Given the description of an element on the screen output the (x, y) to click on. 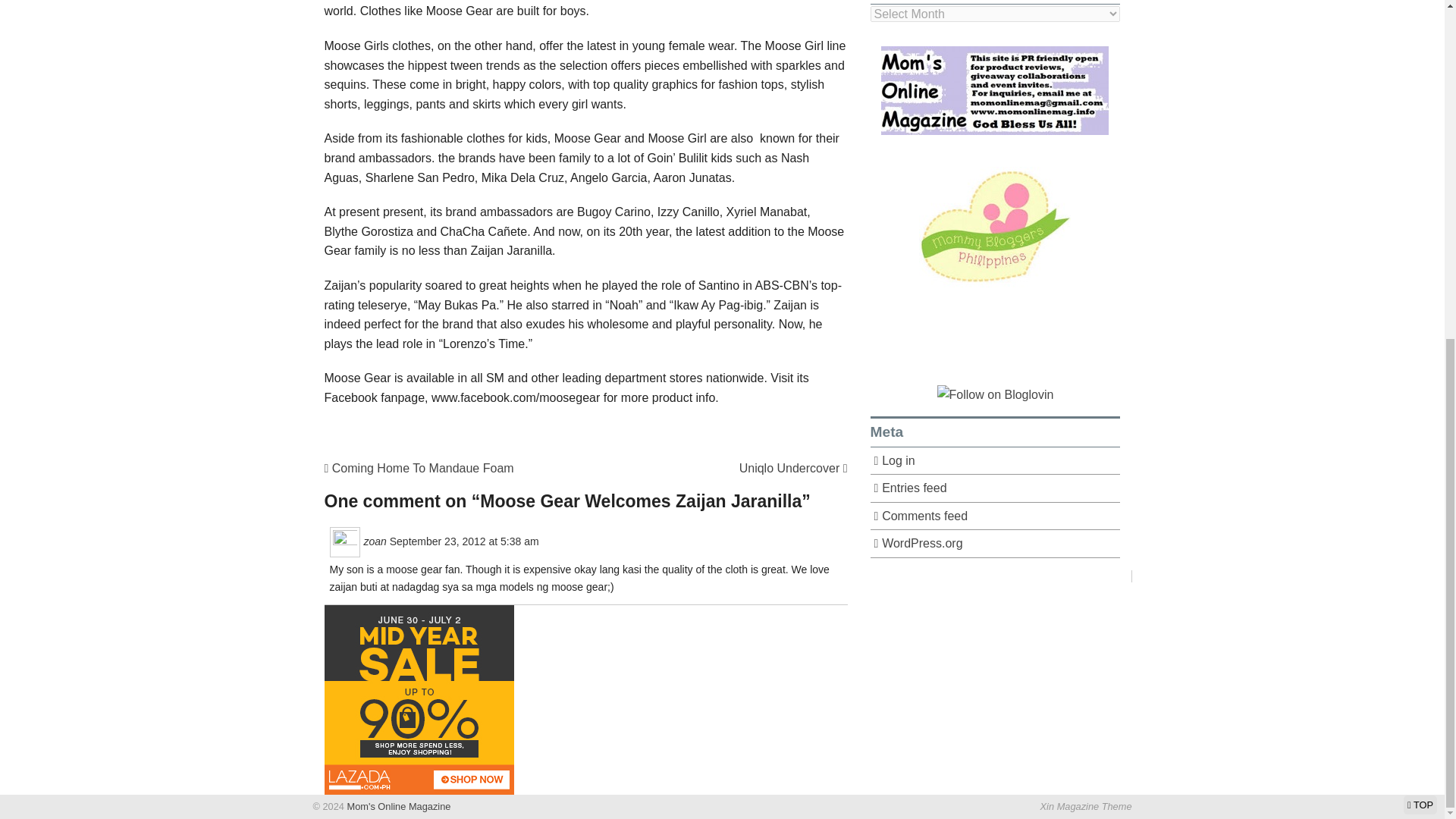
Designed by Stephen Cui (1086, 806)
Xin Magazine Theme (1086, 806)
Follow Mom's Online Magazine on Bloglovin (995, 393)
TOP (1420, 232)
zoan (375, 541)
Log in (995, 461)
Mom's Online Magazine (396, 806)
Uniqlo Undercover (793, 468)
Mom's Online Magazine (396, 806)
September 23, 2012 at 5:38 am (464, 541)
